Given the description of an element on the screen output the (x, y) to click on. 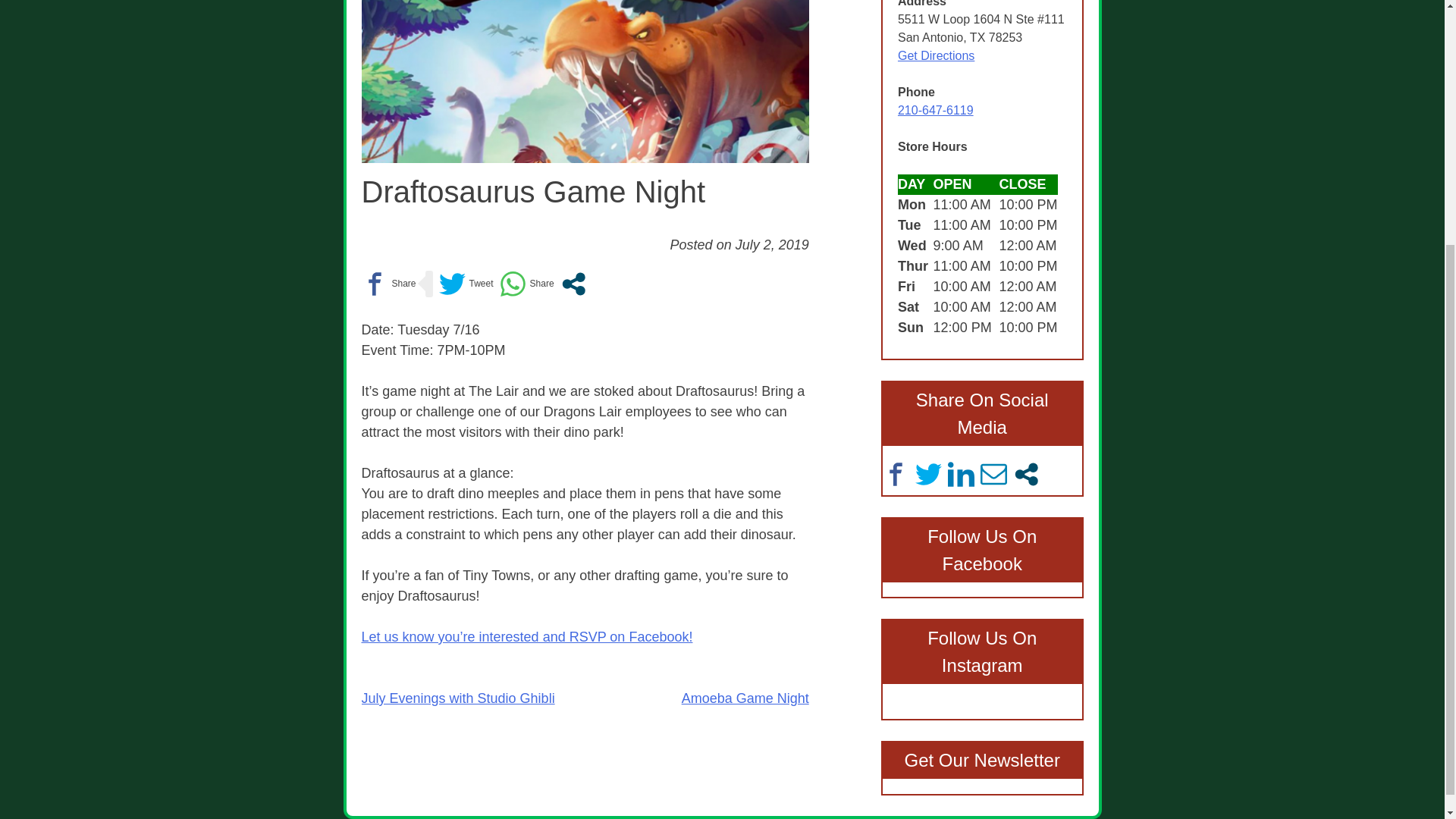
Amoeba Game Night (745, 698)
Share on Facebook (387, 284)
July Evenings with Studio Ghibli (457, 698)
Open modal social networks (573, 284)
Share on WhatsApp (526, 284)
Tweet (466, 284)
